Given the description of an element on the screen output the (x, y) to click on. 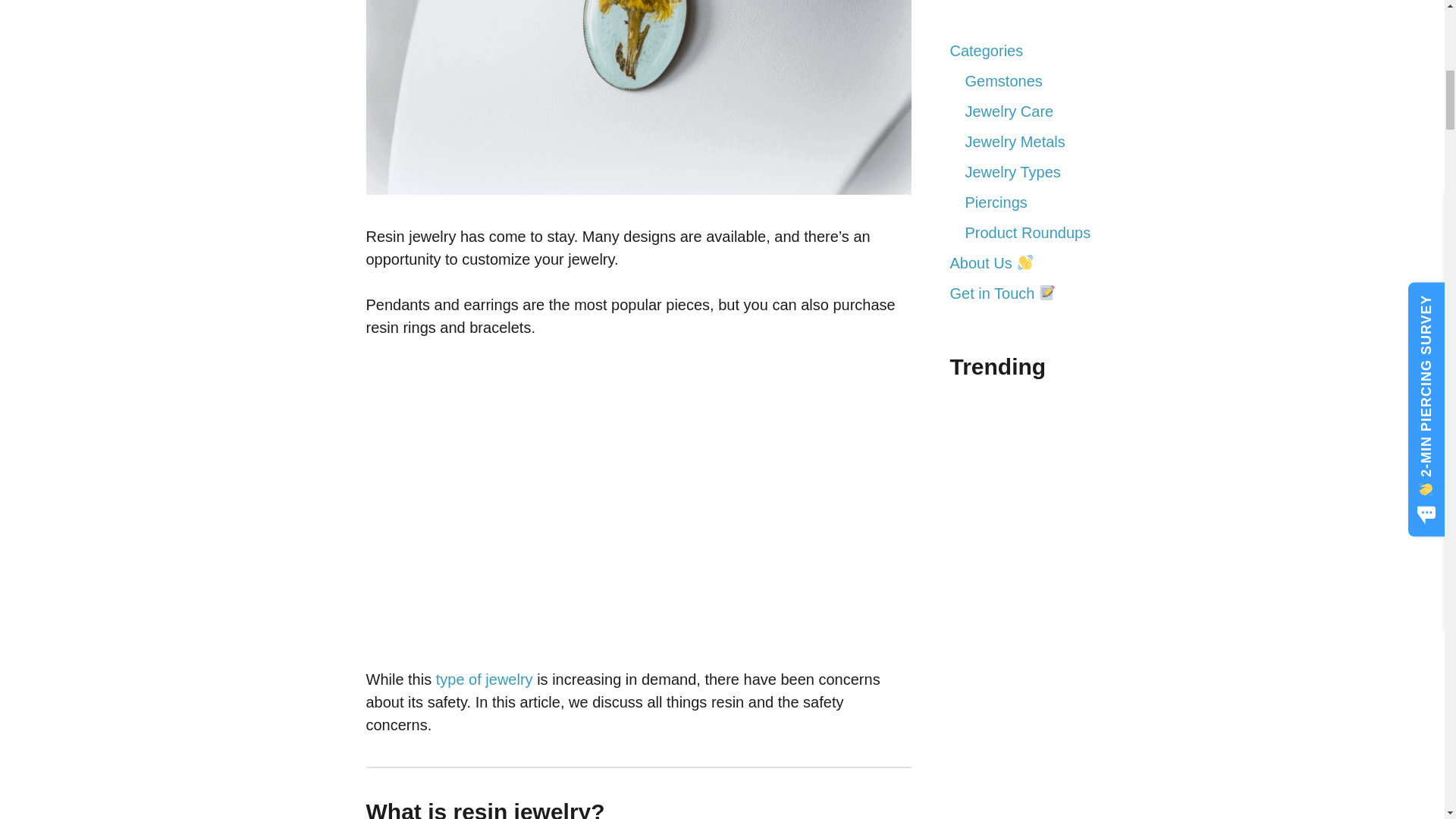
type of jewelry (483, 678)
